Given the description of an element on the screen output the (x, y) to click on. 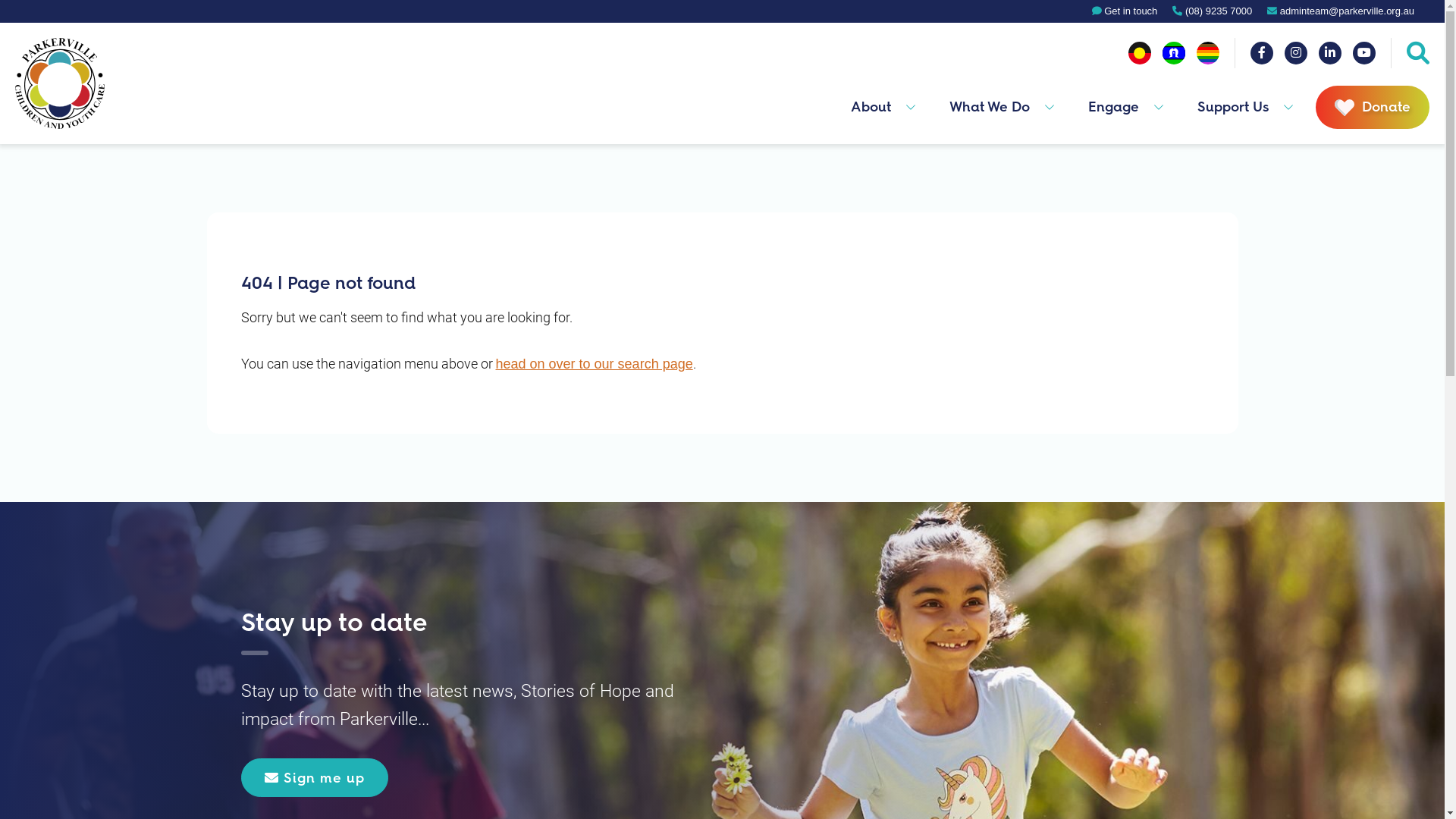
Home Element type: hover (59, 83)
Facebook Element type: hover (1261, 52)
What We Do Element type: text (987, 106)
Donate Element type: text (1372, 106)
YouTube Element type: hover (1363, 52)
(08) 9235 7000 Element type: text (1212, 10)
Linked In Element type: hover (1329, 52)
head on over to our search page Element type: text (594, 363)
Support Us Element type: text (1231, 106)
Sign me up Element type: text (314, 777)
adminteam@parkerville.org.au Element type: text (1340, 10)
Get in touch Element type: text (1124, 10)
Engage Element type: text (1111, 106)
Search Element type: hover (1417, 52)
About Element type: text (868, 106)
Instagram Element type: hover (1295, 52)
